Given the description of an element on the screen output the (x, y) to click on. 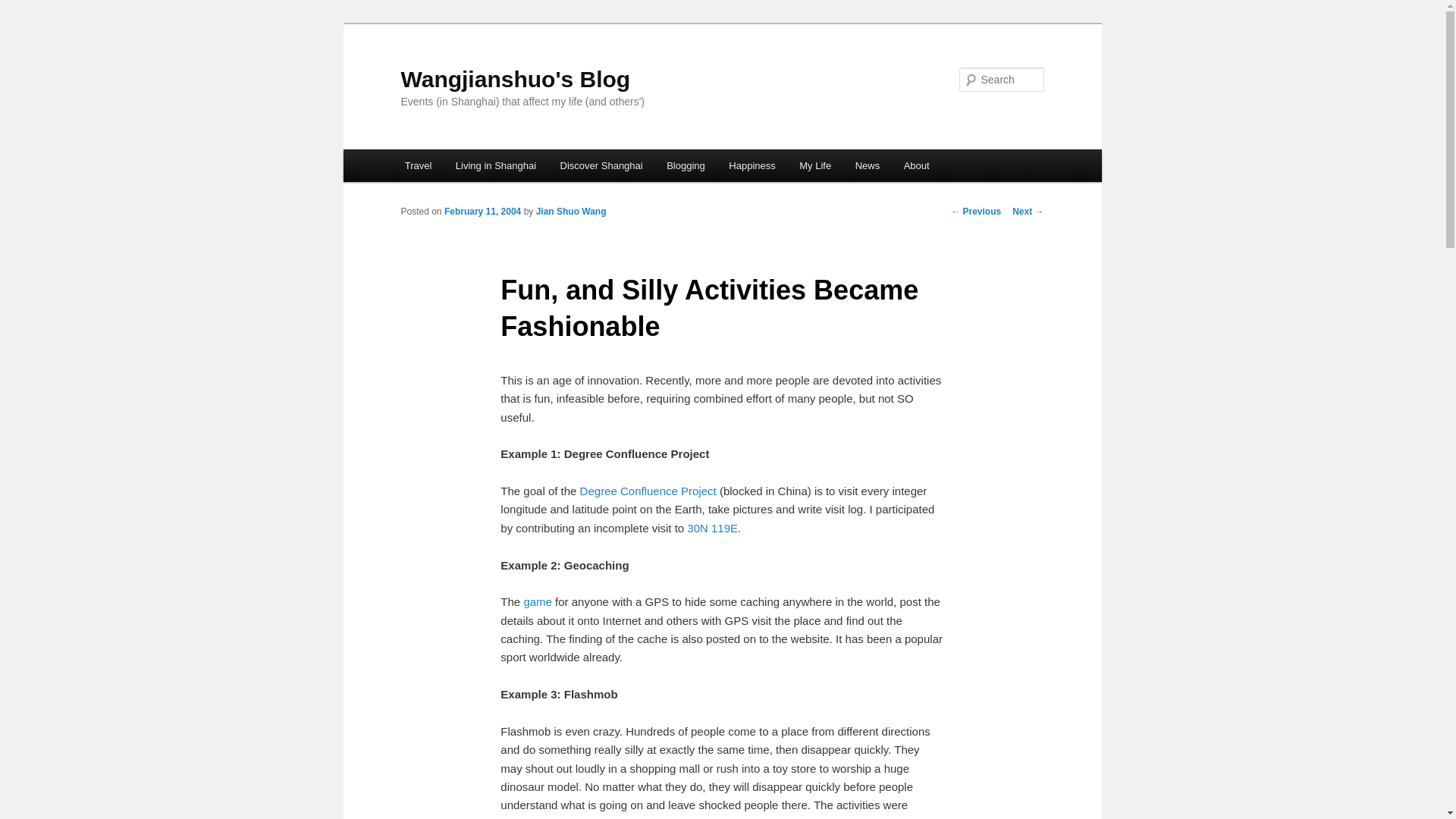
Search (24, 8)
11:30 pm (482, 211)
Living in Shanghai (496, 165)
Travel (418, 165)
Wangjianshuo's Blog (515, 78)
View all posts by Jian Shuo Wang (571, 211)
